Given the description of an element on the screen output the (x, y) to click on. 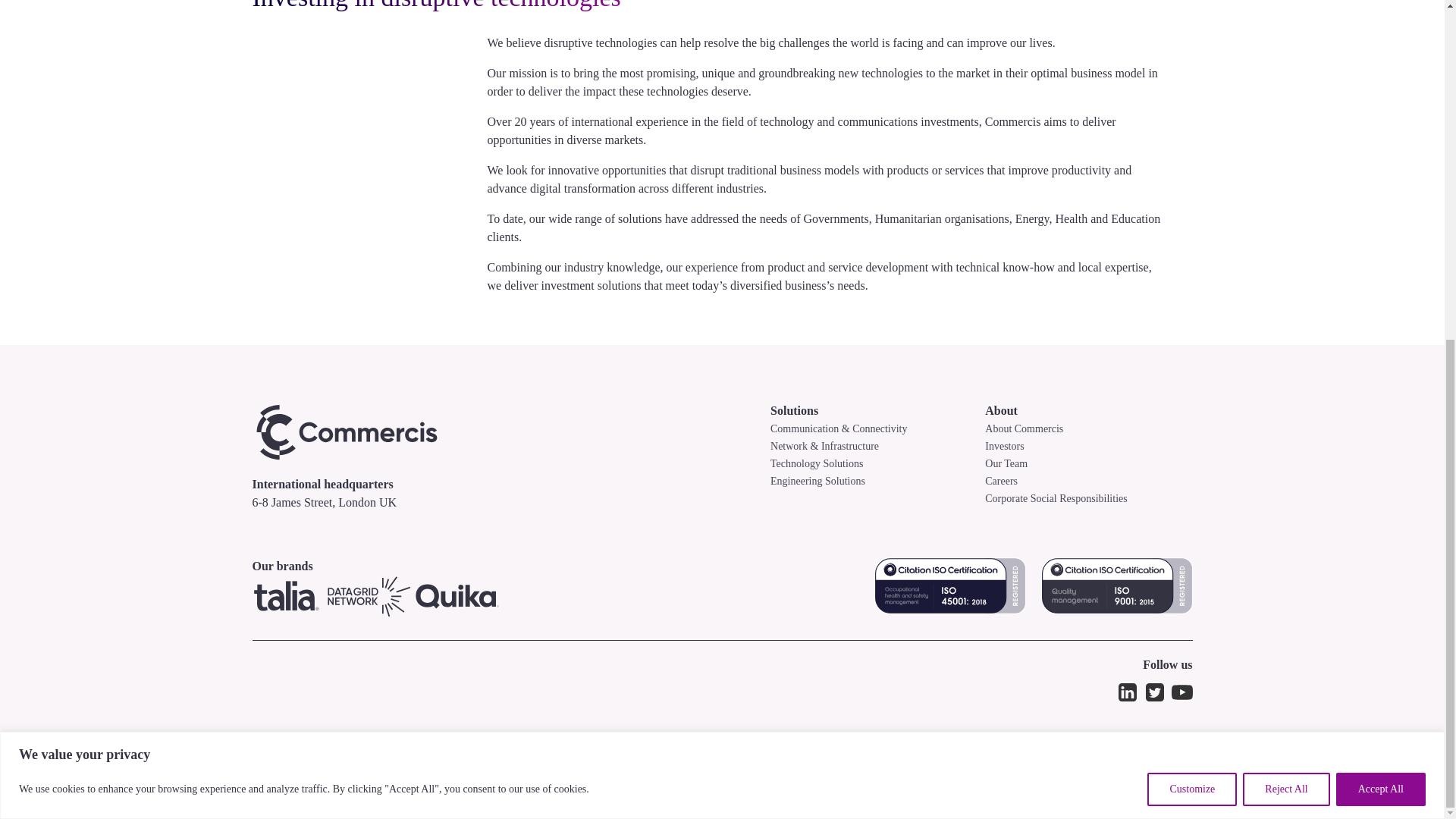
Customize (1191, 213)
Accept All (1380, 213)
Reject All (1286, 213)
